Given the description of an element on the screen output the (x, y) to click on. 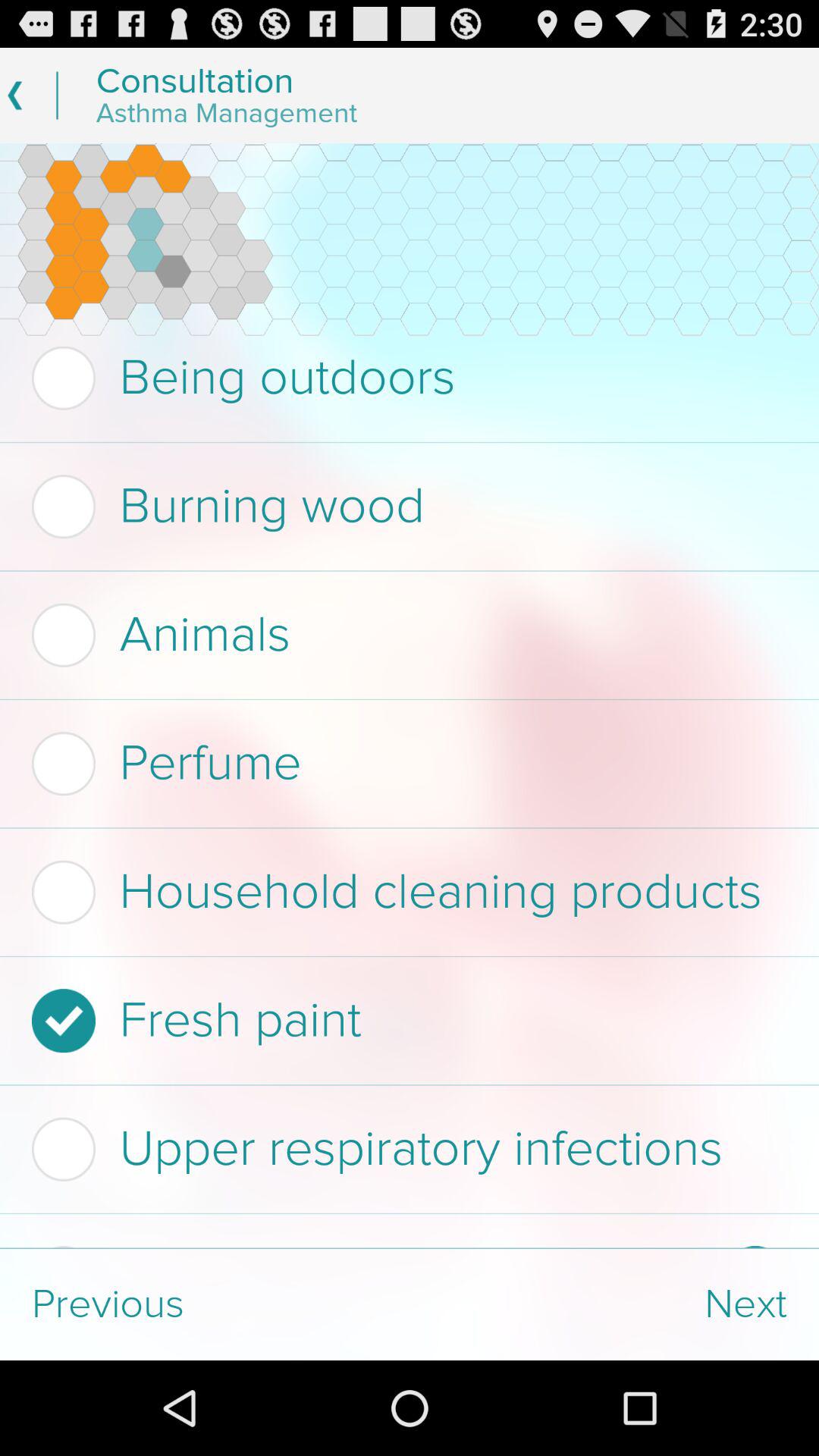
select being outdoors icon (405, 378)
